Given the description of an element on the screen output the (x, y) to click on. 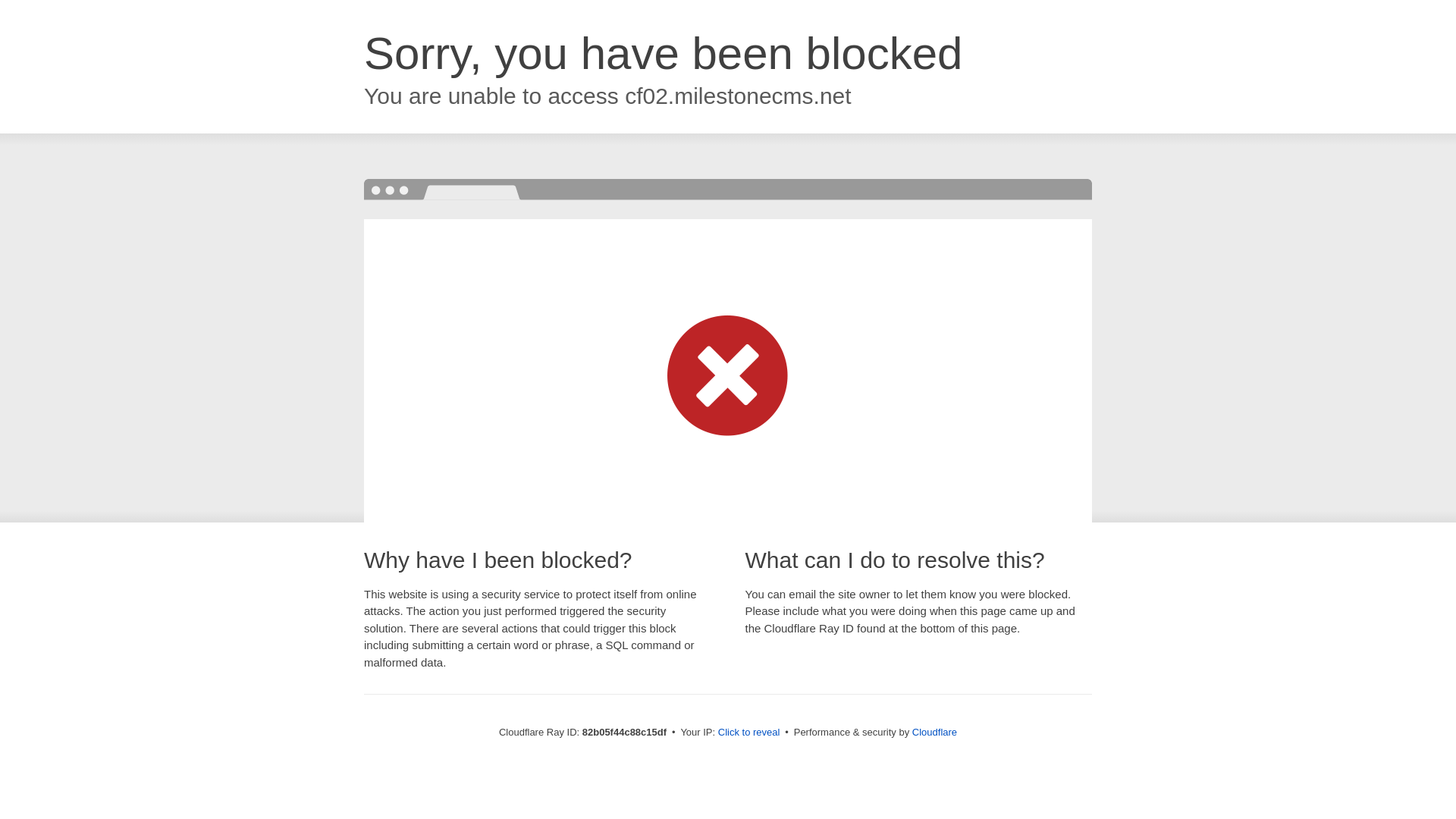
Click to reveal Element type: text (749, 732)
Cloudflare Element type: text (934, 731)
